Given the description of an element on the screen output the (x, y) to click on. 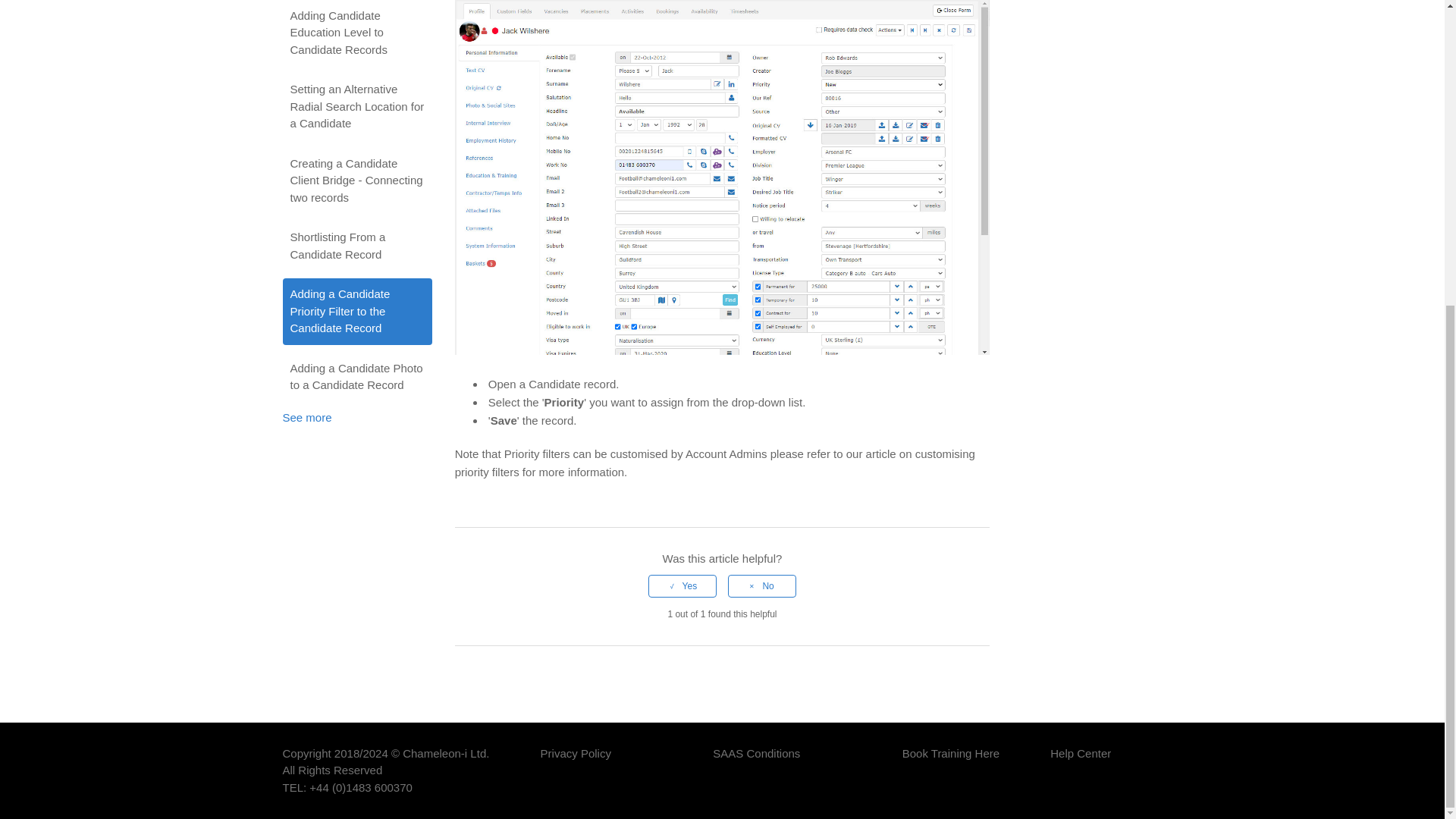
Book Training Here (950, 770)
Home (1079, 770)
Yes (681, 585)
Help Center (1079, 770)
Adding a Candidate Photo to a Candidate Record (356, 376)
SAAS Conditions (756, 770)
Adding a Candidate Priority Filter to the Candidate Record (356, 311)
See more (306, 417)
Shortlisting From a Candidate Record (356, 246)
Creating a Candidate Client Bridge - Connecting two records (356, 180)
Adding Candidate Education Level to Candidate Records (356, 33)
No (762, 585)
Privacy Policy (575, 770)
